Given the description of an element on the screen output the (x, y) to click on. 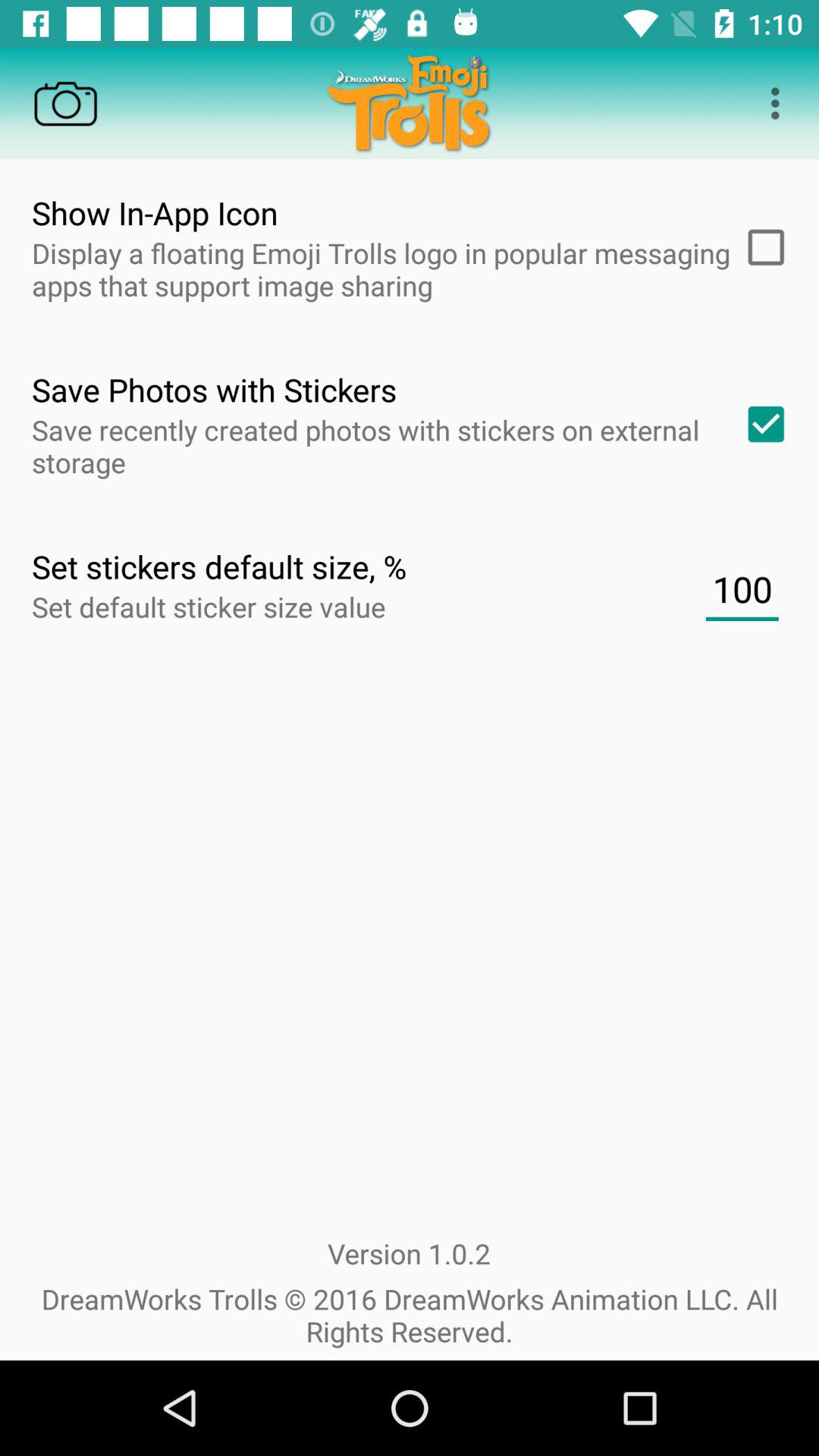
turn off item below the save recently created icon (741, 589)
